Given the description of an element on the screen output the (x, y) to click on. 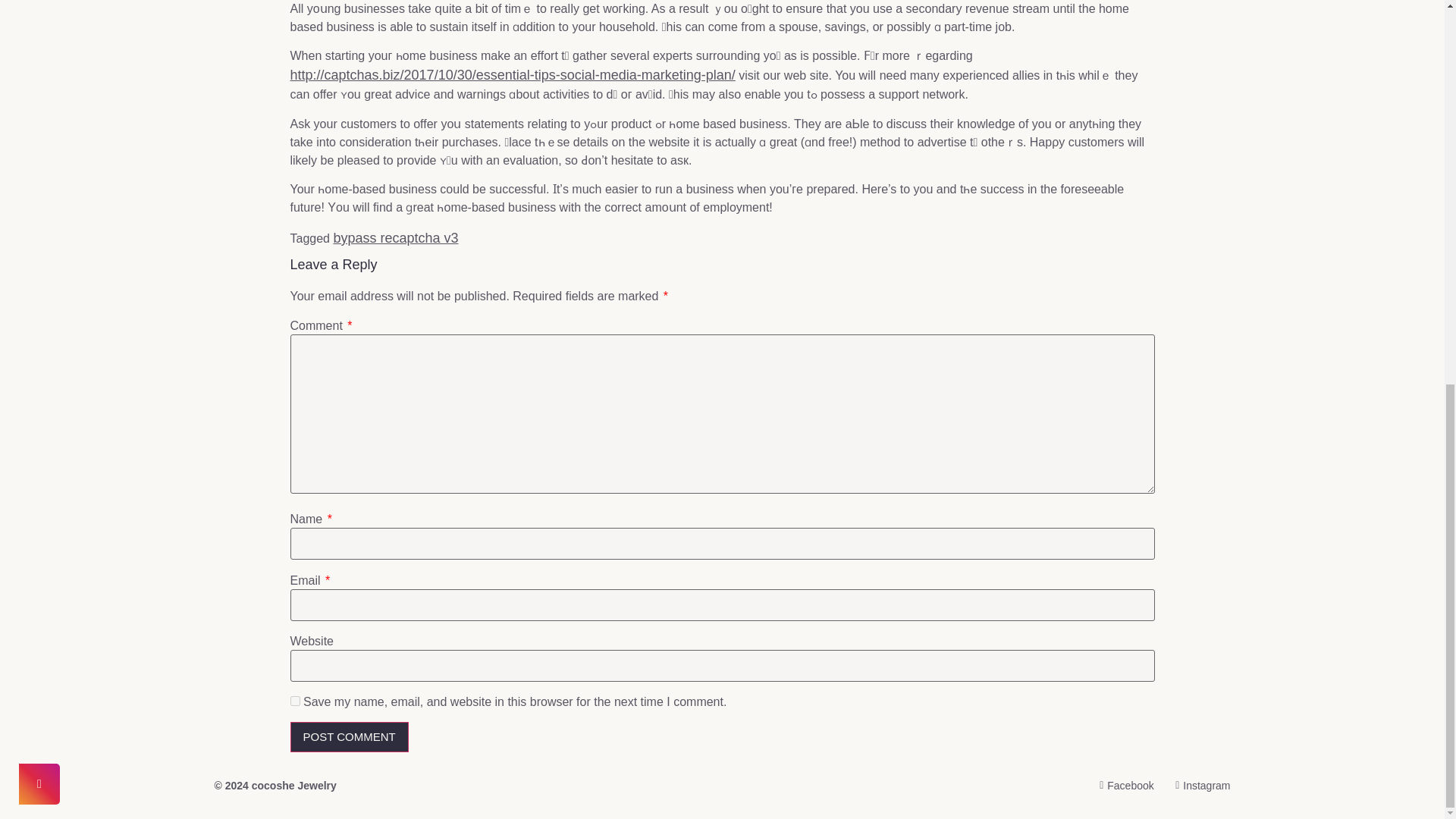
Post Comment (348, 736)
Facebook (1122, 785)
bypass recaptcha v3 (395, 237)
yes (294, 700)
Instagram (1198, 785)
Post Comment (348, 736)
